Given the description of an element on the screen output the (x, y) to click on. 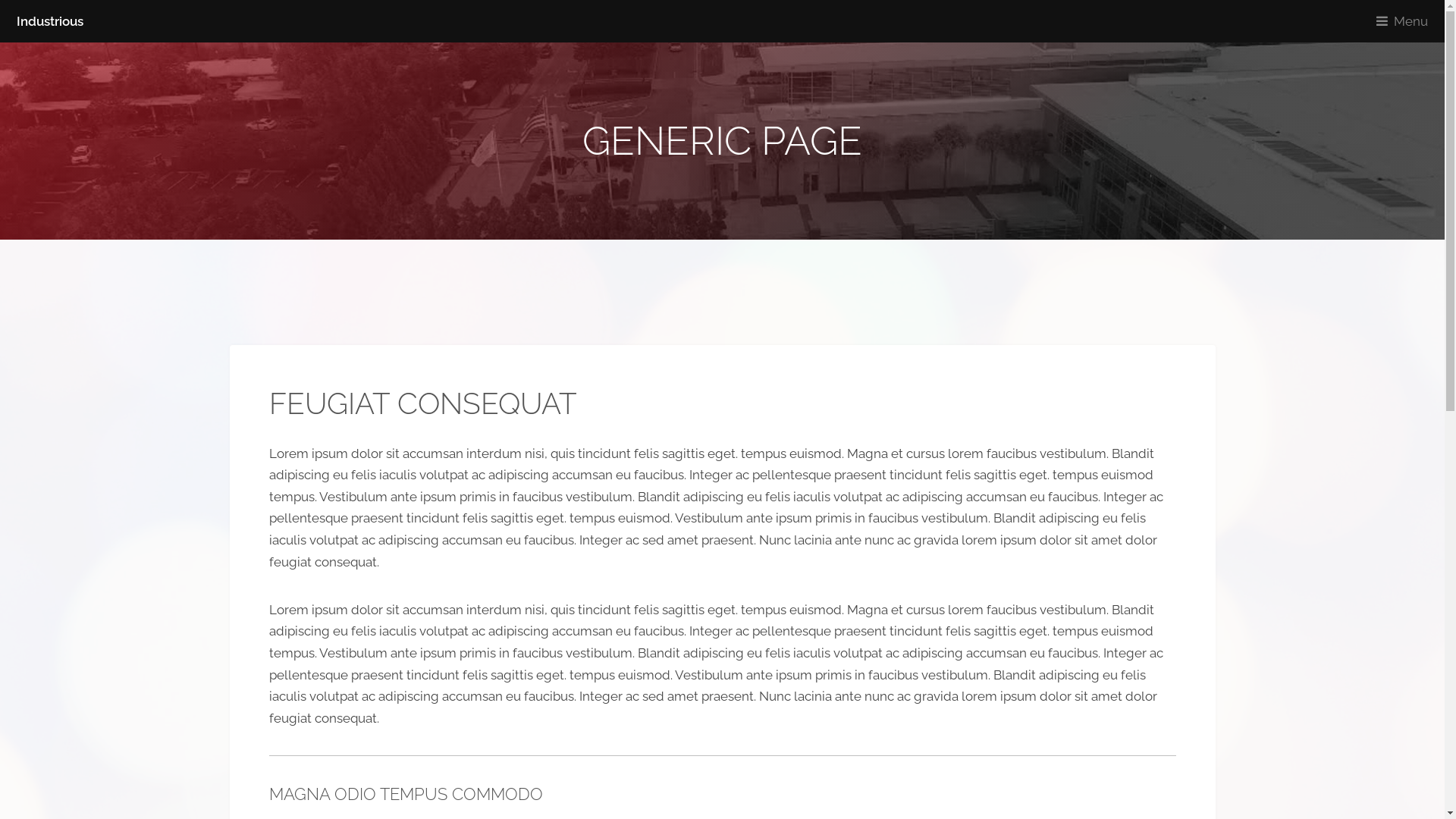
Menu Element type: text (1405, 21)
Industrious Element type: text (49, 21)
